Given the description of an element on the screen output the (x, y) to click on. 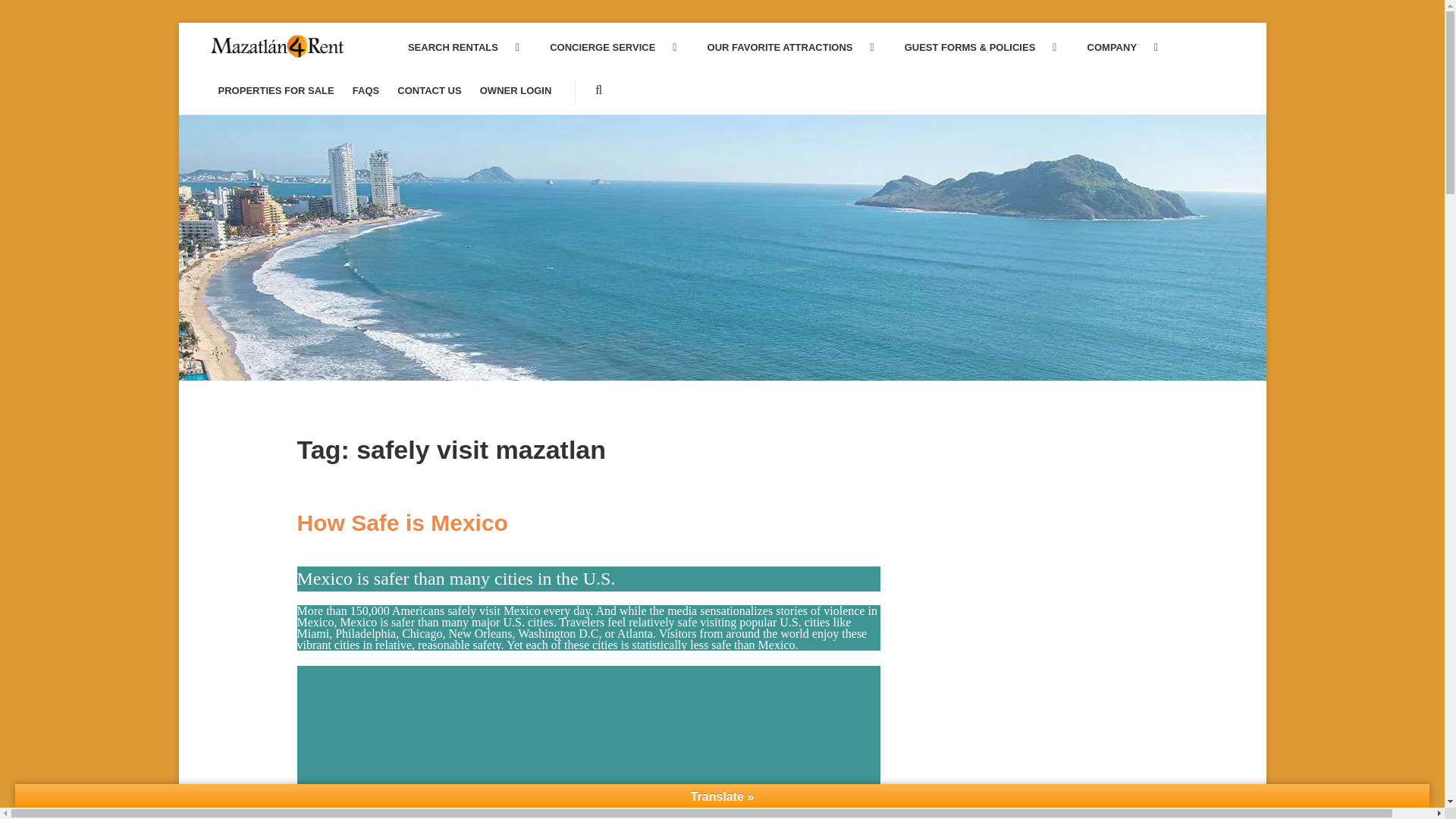
PROPERTIES FOR SALE (276, 90)
OWNER LOGIN (515, 90)
CONTACT US (429, 90)
MAZATLAN4RENT (292, 56)
OUR FAVORITE ATTRACTIONS (785, 47)
How Safe is Mexico (402, 522)
COMPANY (1116, 47)
FAQS (365, 90)
CONCIERGE SERVICE (607, 47)
SEARCH RENTALS (457, 47)
